Given the description of an element on the screen output the (x, y) to click on. 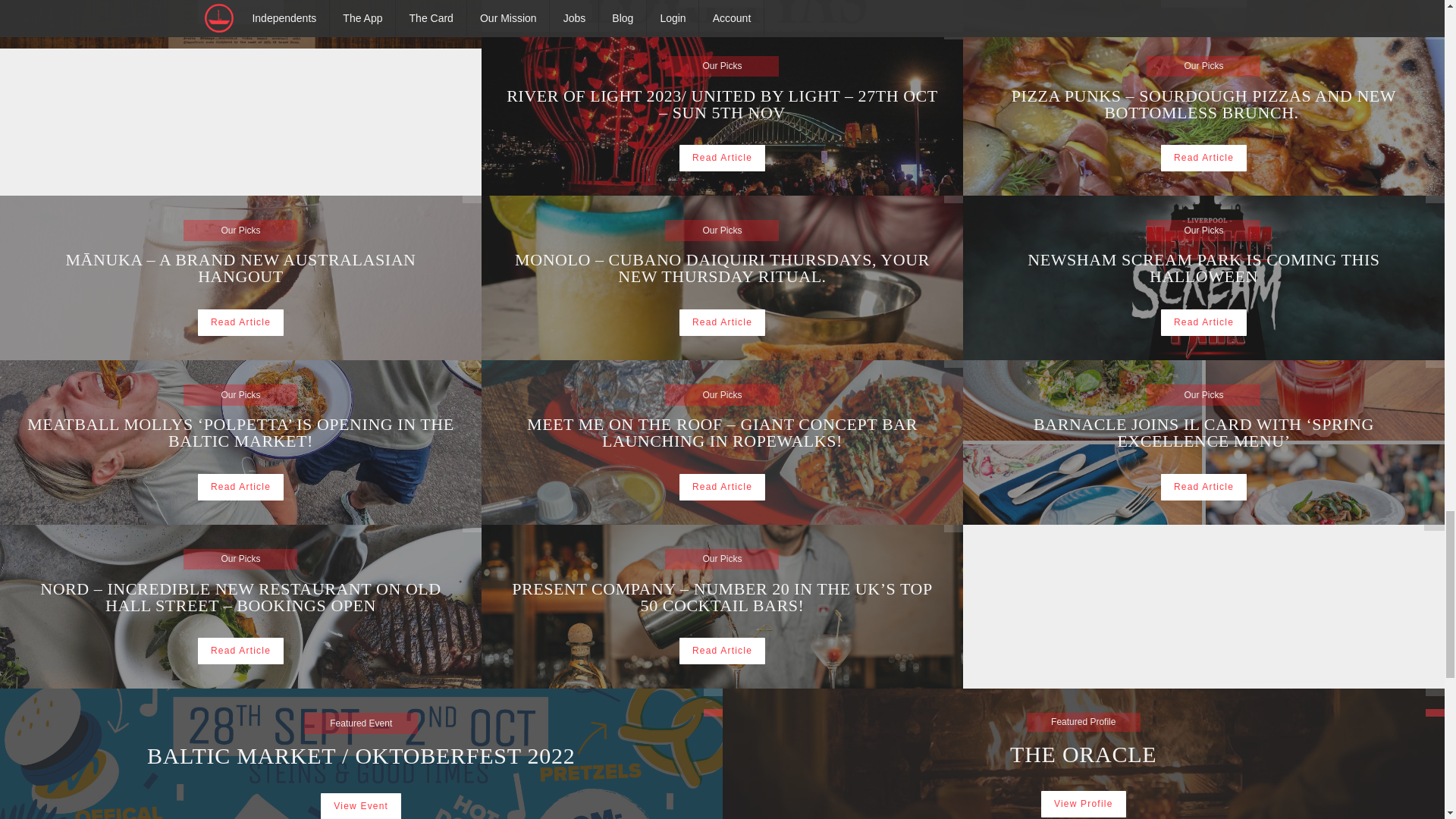
View All Posts (472, 528)
View All Posts (952, 199)
View All Posts (472, 363)
Read Article (1203, 157)
View All Posts (952, 363)
View All Posts (472, 199)
Read Article (240, 11)
Read Article (1204, 262)
Featured Event (722, 157)
View All Events (712, 712)
View All Posts (712, 692)
Read Article (952, 528)
Read Article (1203, 3)
Read Article (722, 322)
